Given the description of an element on the screen output the (x, y) to click on. 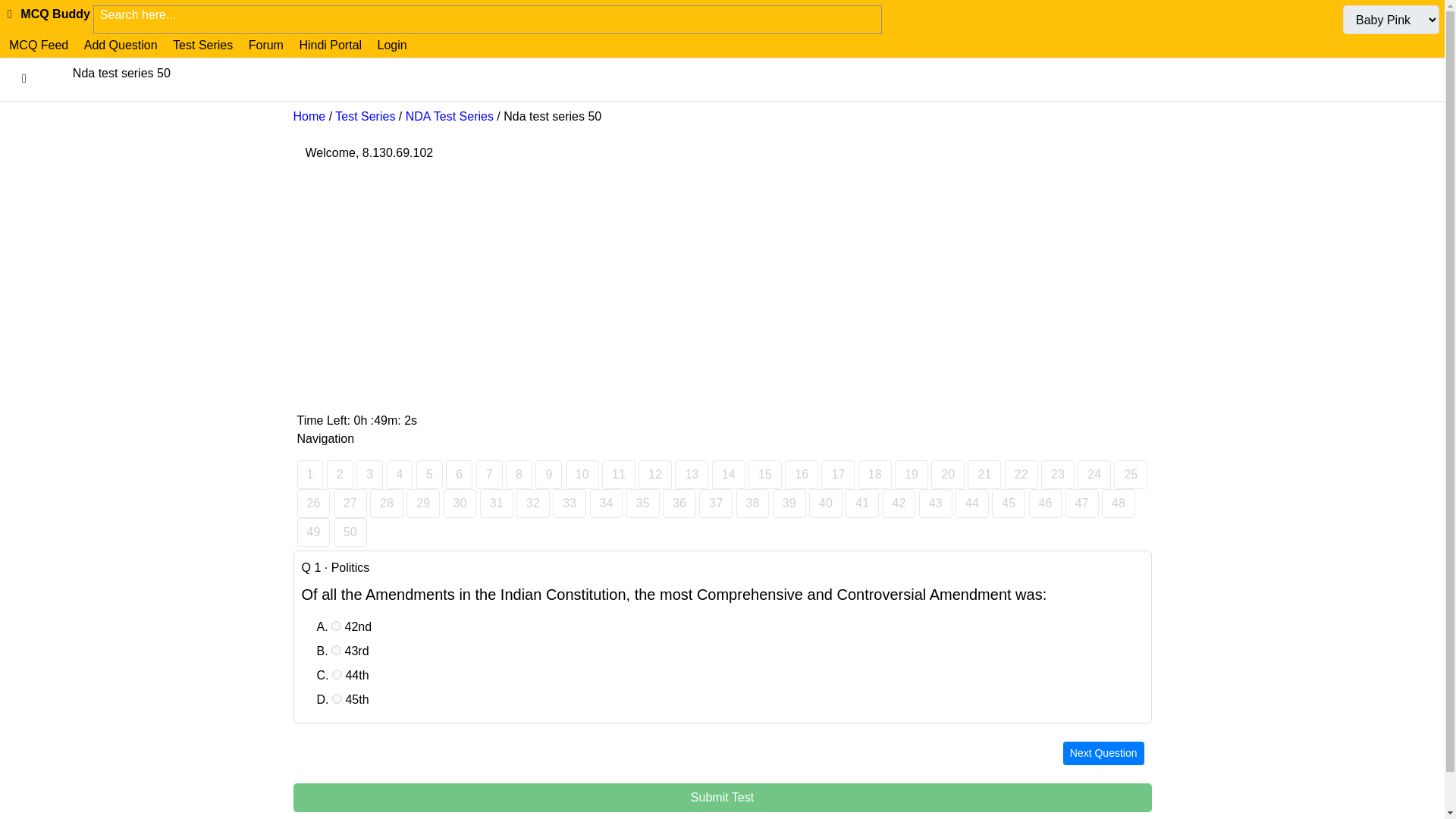
15 (764, 474)
23 (1057, 474)
25 (1130, 474)
19 (911, 474)
Search here... (487, 14)
Test Series (364, 115)
1 (310, 474)
26 (313, 502)
2 (339, 474)
Add Question (120, 44)
21 (984, 474)
MCQ Feed (38, 44)
Home (308, 115)
3 (369, 474)
MCQ Buddy (47, 13)
